Given the description of an element on the screen output the (x, y) to click on. 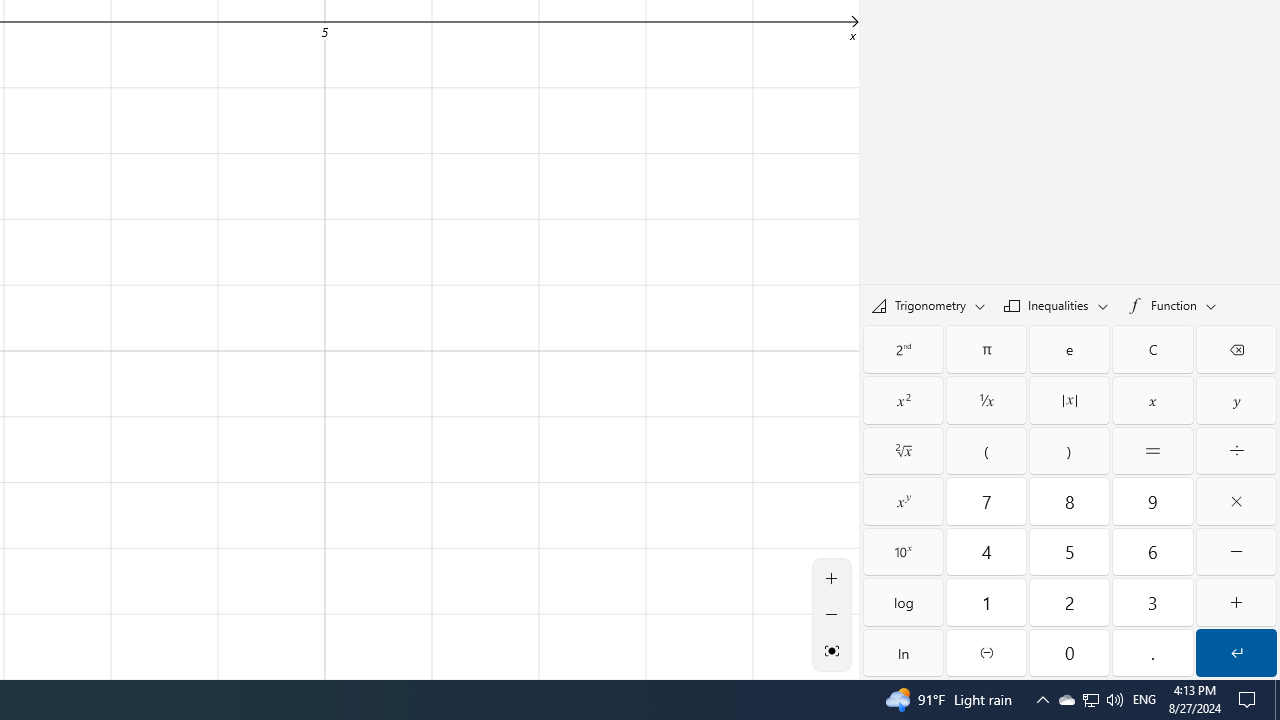
Log (903, 602)
Natural log (903, 652)
Two (1069, 602)
Three (1153, 602)
Inequalities (1056, 305)
